Given the description of an element on the screen output the (x, y) to click on. 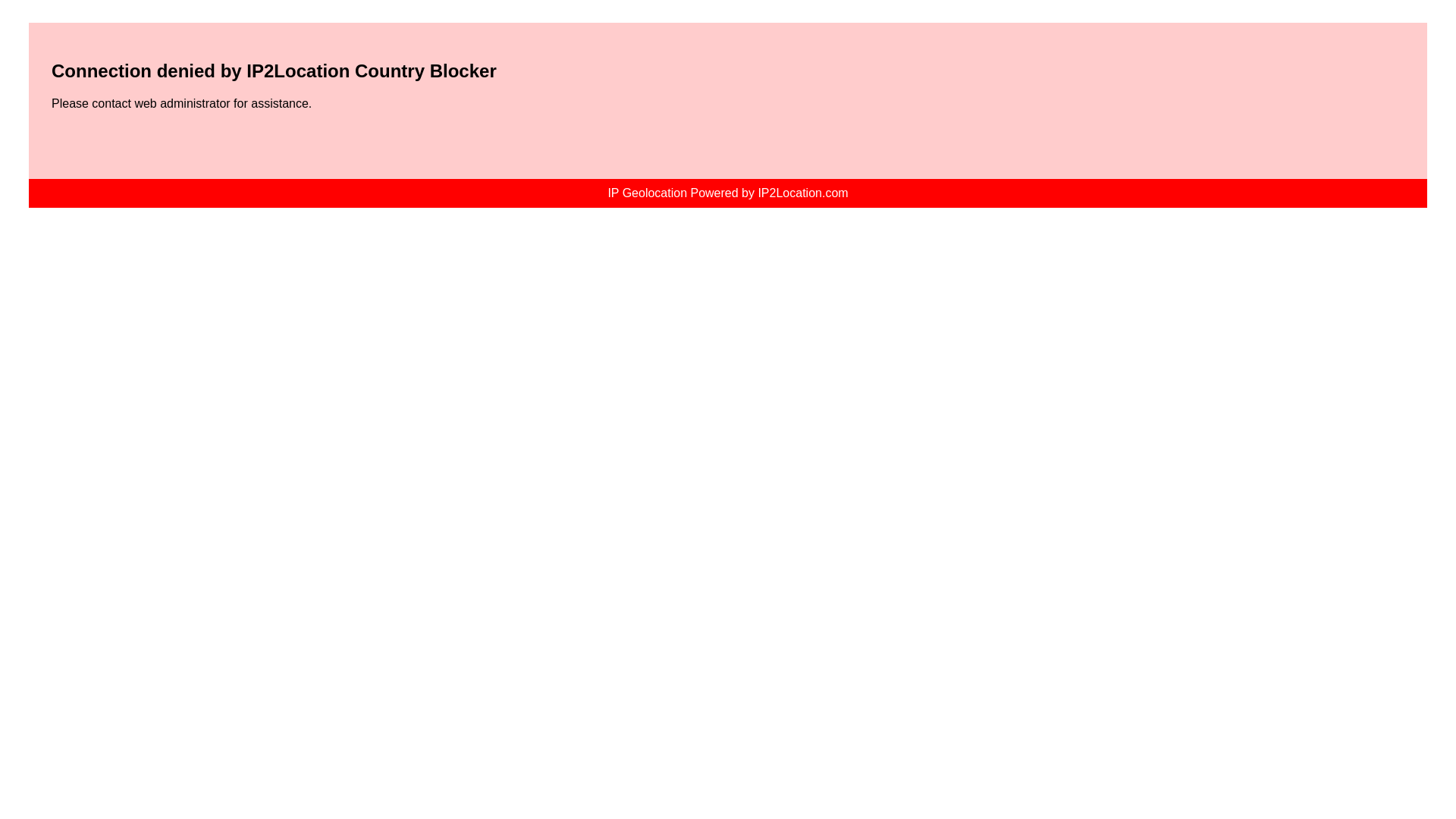
IP Geolocation Powered by IP2Location.com (727, 192)
